Given the description of an element on the screen output the (x, y) to click on. 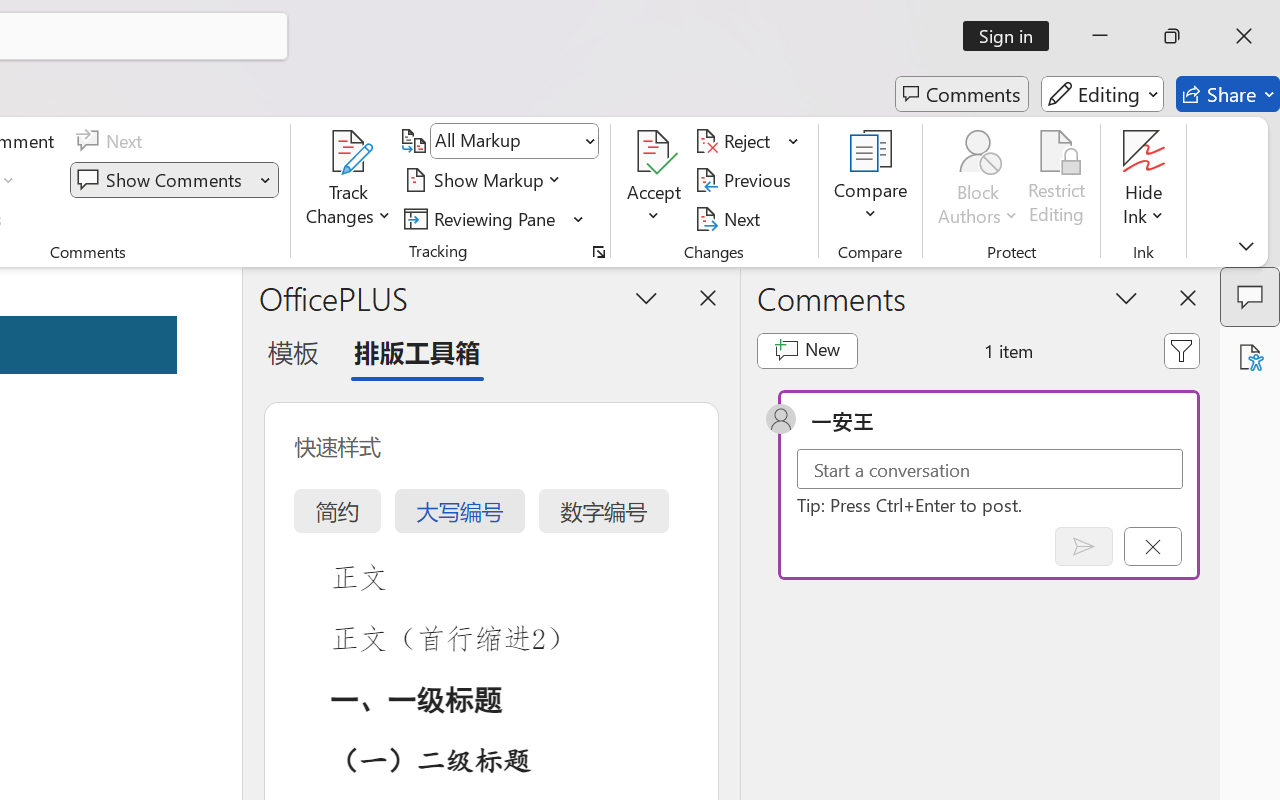
Block Authors (977, 151)
Previous (745, 179)
Editing (1101, 94)
Restrict Editing (1057, 179)
Accept and Move to Next (653, 151)
Display for Review (514, 141)
Track Changes (349, 151)
